Given the description of an element on the screen output the (x, y) to click on. 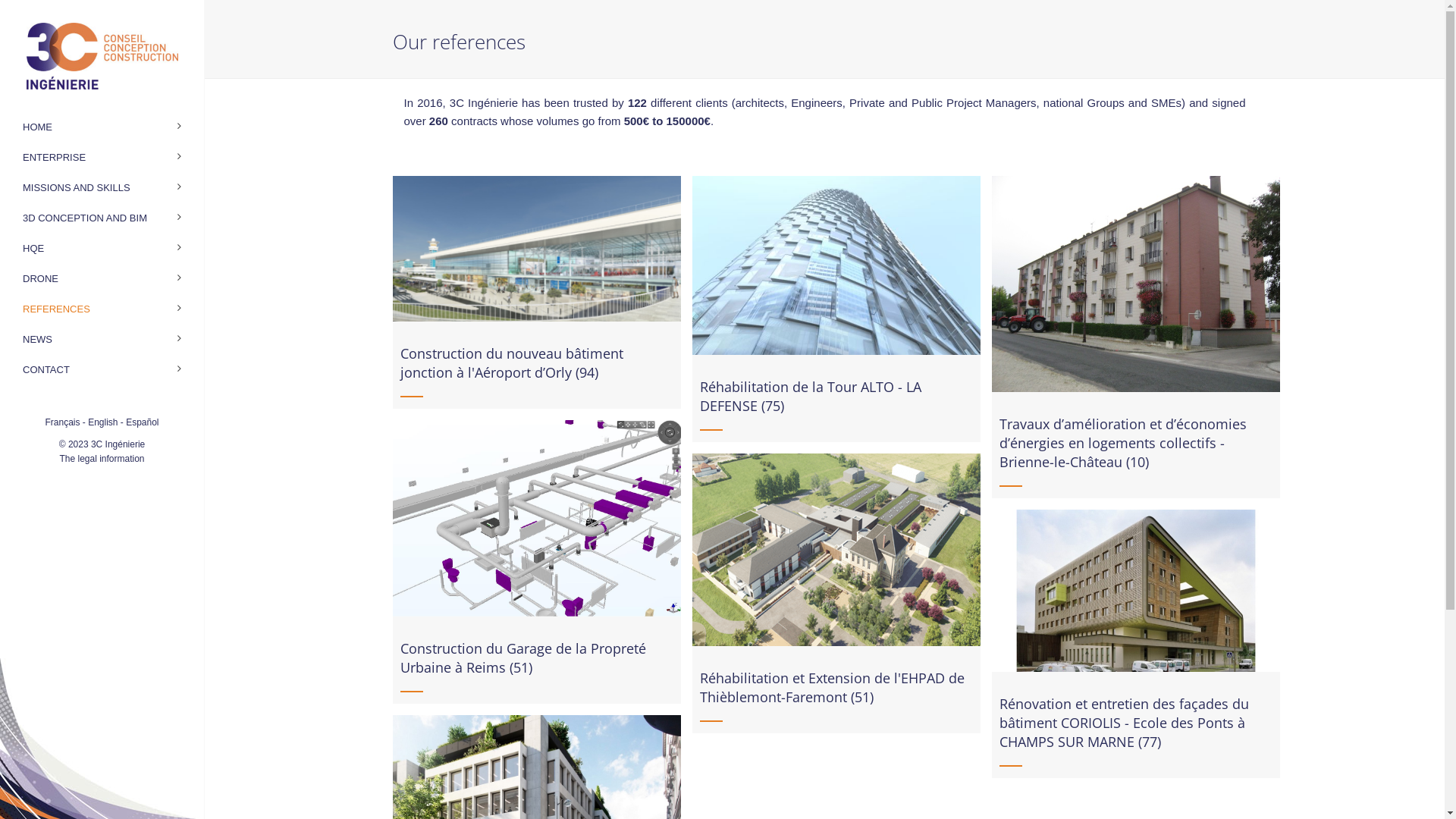
REFERENCES Element type: text (101, 309)
CONTACT Element type: text (101, 369)
MISSIONS AND SKILLS Element type: text (101, 187)
The legal information Element type: text (101, 458)
HOME Element type: text (101, 127)
NEWS Element type: text (101, 339)
ENTERPRISE Element type: text (101, 157)
HQE Element type: text (101, 248)
English Element type: text (102, 422)
DRONE Element type: text (101, 278)
3D CONCEPTION AND BIM Element type: text (101, 218)
